Given the description of an element on the screen output the (x, y) to click on. 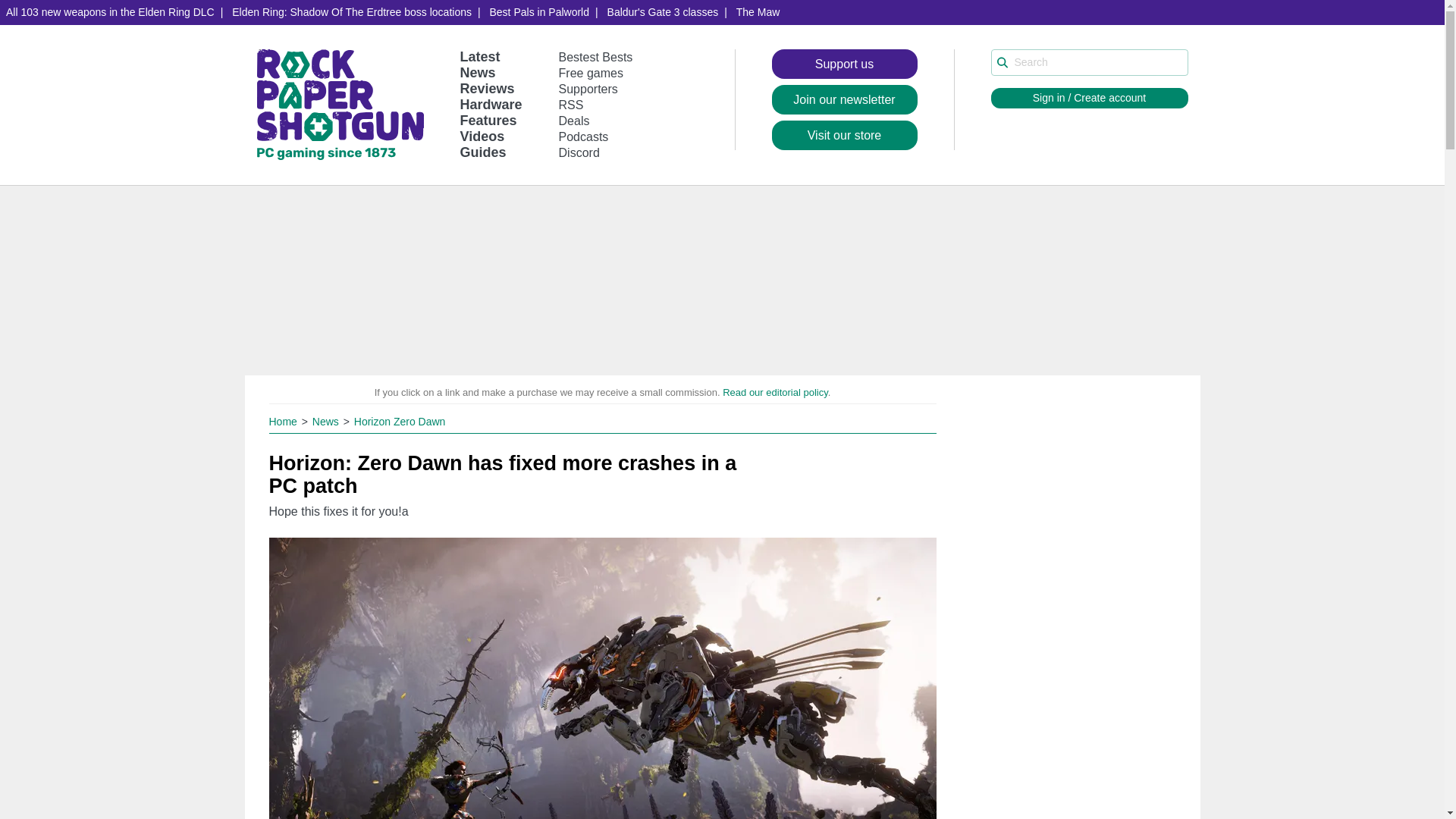
Free games (591, 72)
Discord (579, 152)
Reviews (486, 88)
Features (488, 120)
Podcasts (583, 136)
Home (283, 421)
Visit our store (844, 134)
Elden Ring: Shadow Of The Erdtree boss locations (351, 12)
Best Pals in Palworld (539, 12)
Baldur's Gate 3 classes (663, 12)
Supporters (588, 88)
News (477, 72)
Videos (481, 136)
News (327, 421)
Horizon Zero Dawn (399, 421)
